Given the description of an element on the screen output the (x, y) to click on. 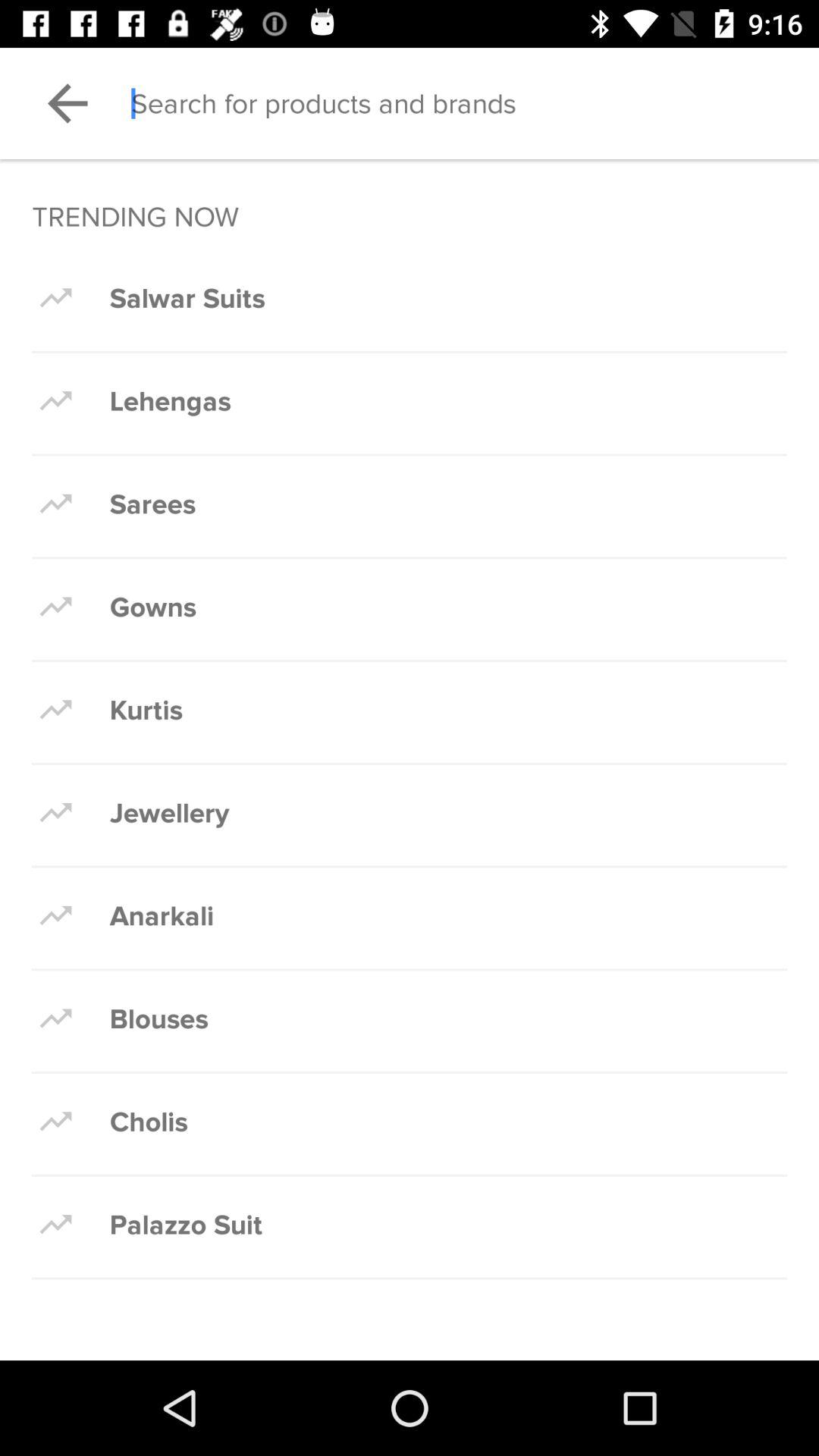
input search terms (475, 103)
